Given the description of an element on the screen output the (x, y) to click on. 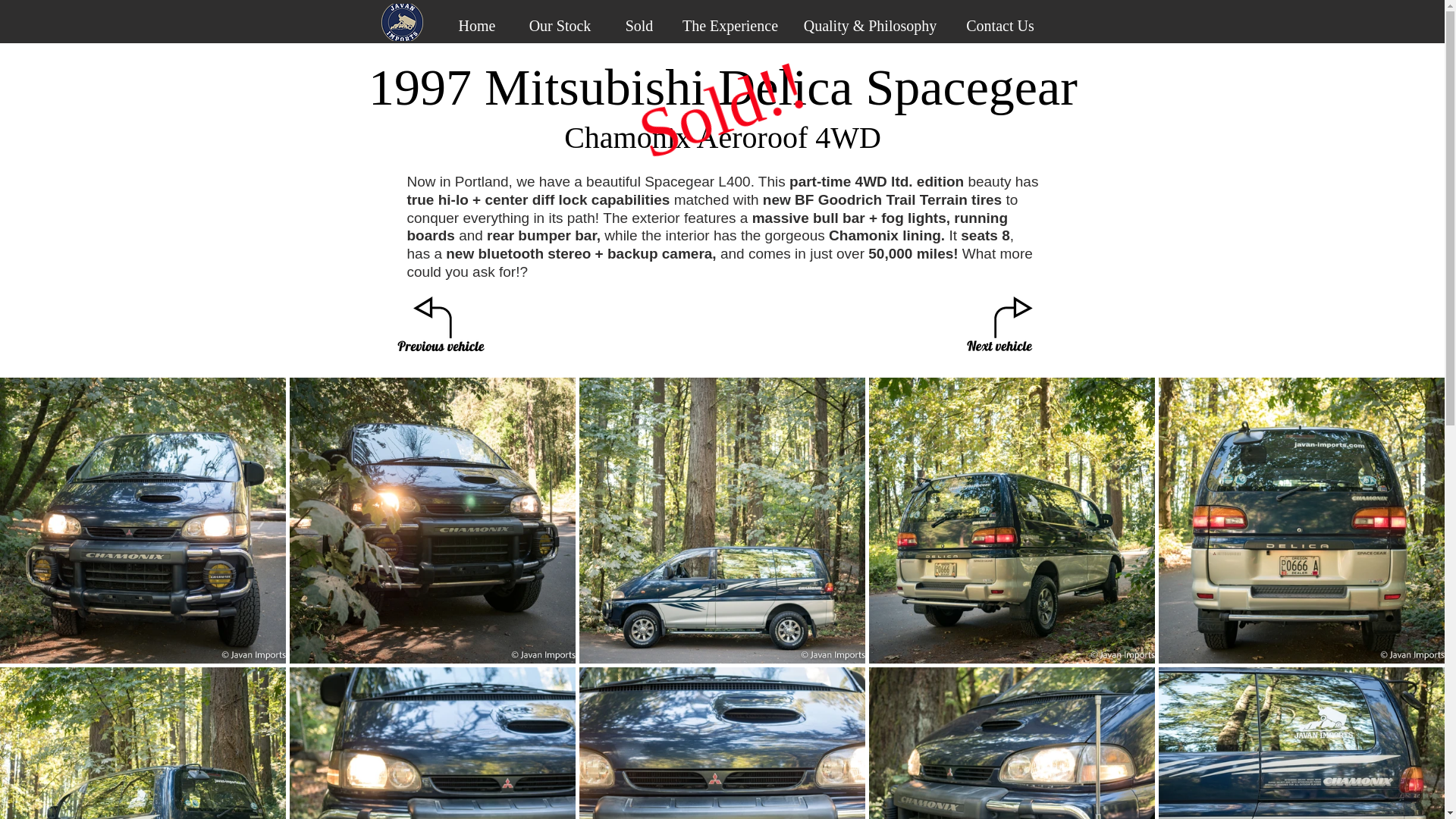
Previous Arrow.png (441, 328)
Our Stock (560, 24)
The Experience (729, 24)
Sold (639, 24)
Home (476, 24)
Contact Us (999, 24)
Next arrow.png (998, 328)
